Given the description of an element on the screen output the (x, y) to click on. 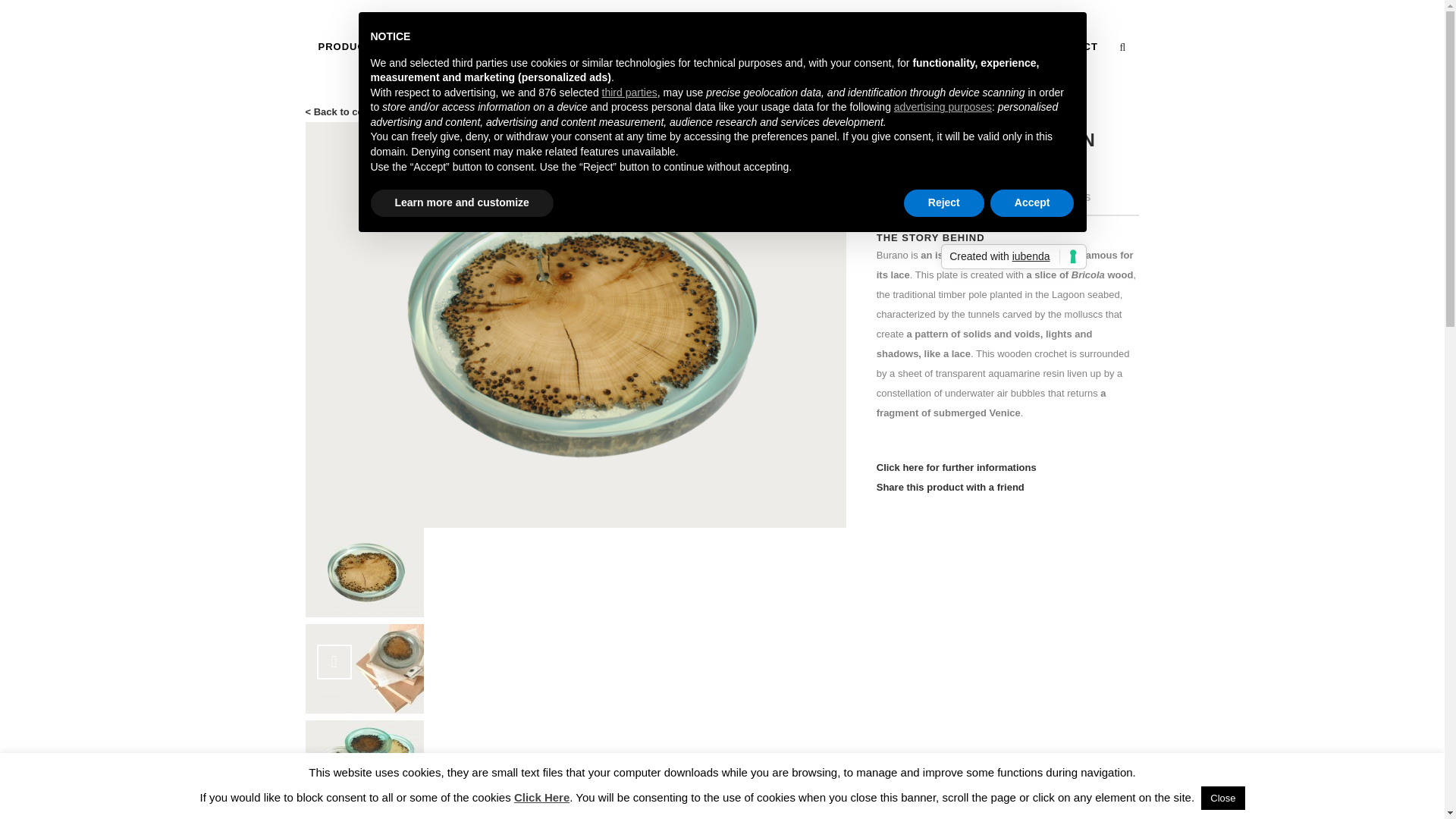
COLLECTIONS (722, 51)
PRODUCTS (446, 47)
alcarol-burano-plate-bricola (347, 47)
